Given the description of an element on the screen output the (x, y) to click on. 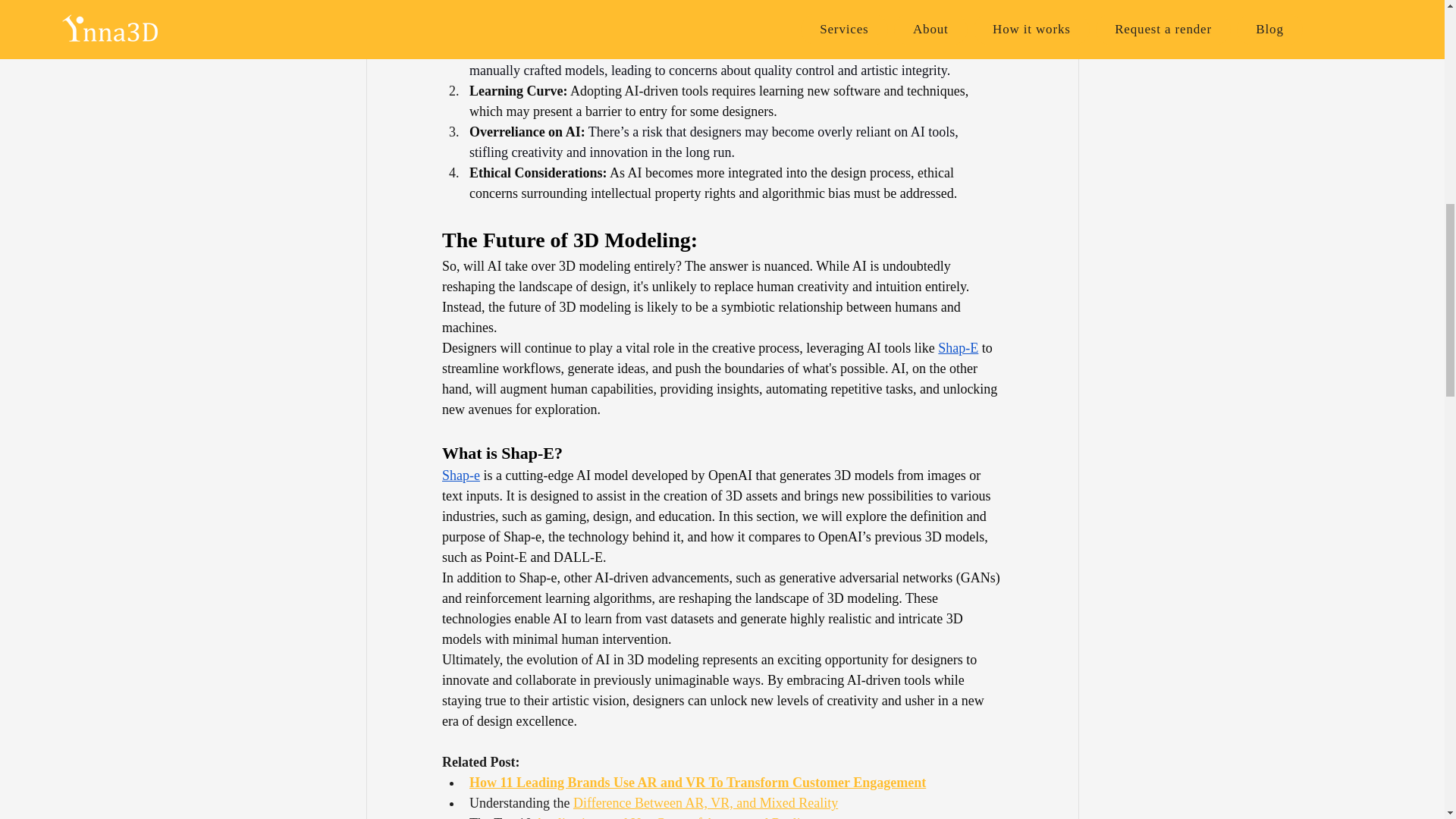
Applications and Use Cases of Augmented Reality (672, 817)
Shap-E (957, 347)
Difference Between AR, VR, and Mixed Reality (704, 802)
Shap-e (460, 475)
